Given the description of an element on the screen output the (x, y) to click on. 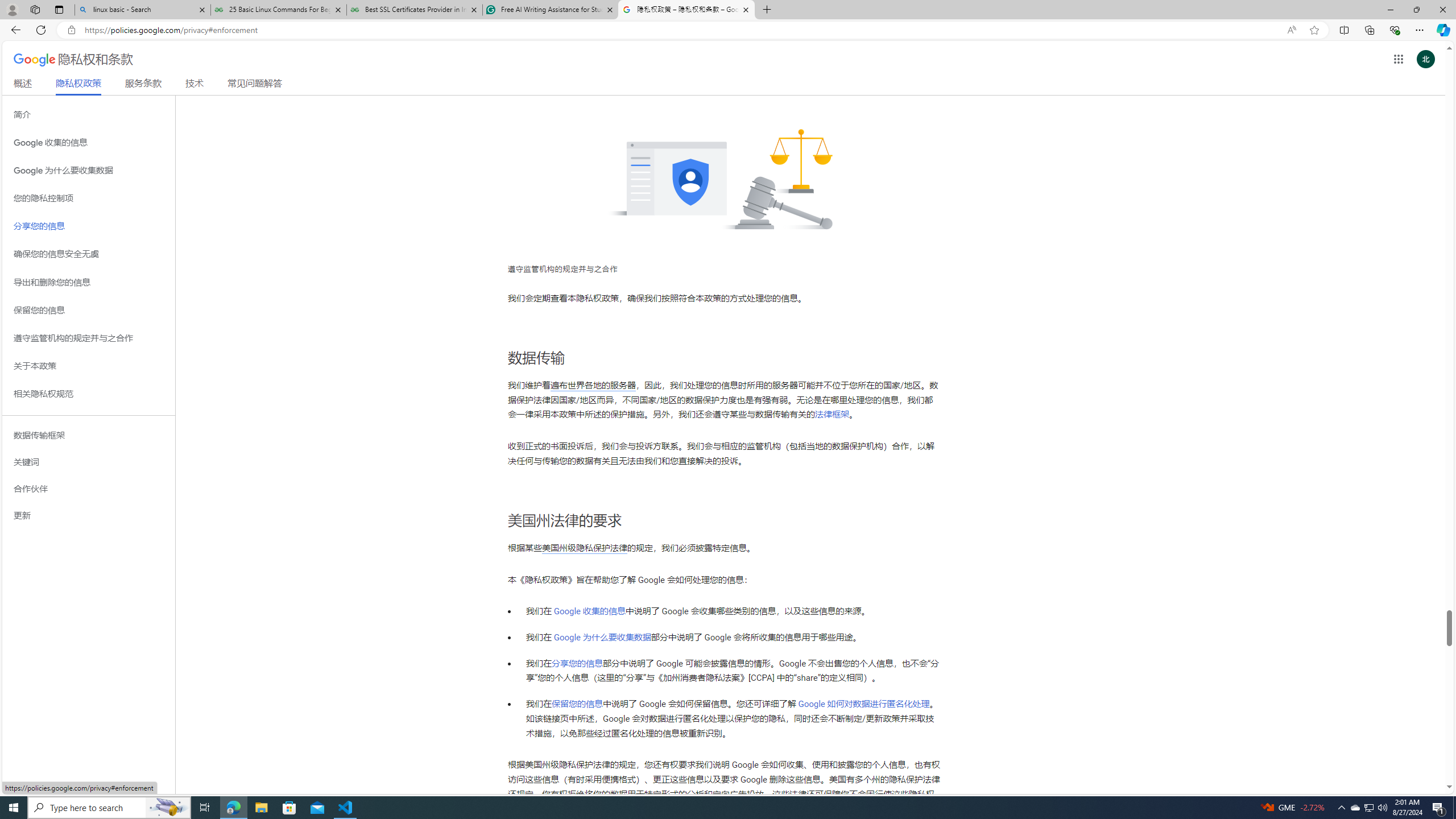
25 Basic Linux Commands For Beginners - GeeksforGeeks (277, 9)
Best SSL Certificates Provider in India - GeeksforGeeks (414, 9)
linux basic - Search (142, 9)
